Given the description of an element on the screen output the (x, y) to click on. 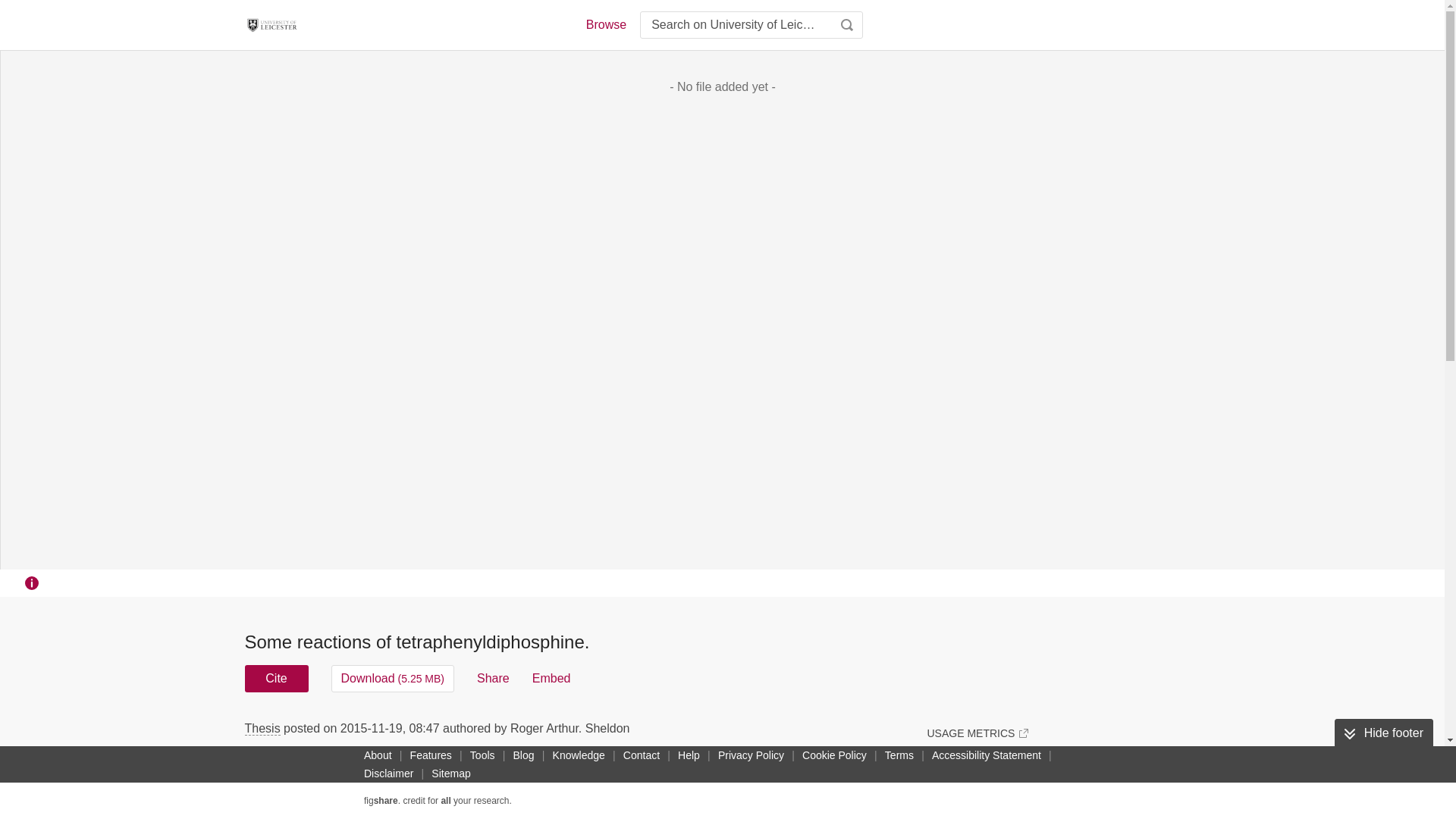
Features (431, 755)
USAGE METRICS (976, 732)
Help (688, 755)
Accessibility Statement (986, 755)
Disclaimer (388, 773)
Share (493, 678)
Browse (605, 24)
Terms (899, 755)
Embed (551, 678)
Tools (482, 755)
